Given the description of an element on the screen output the (x, y) to click on. 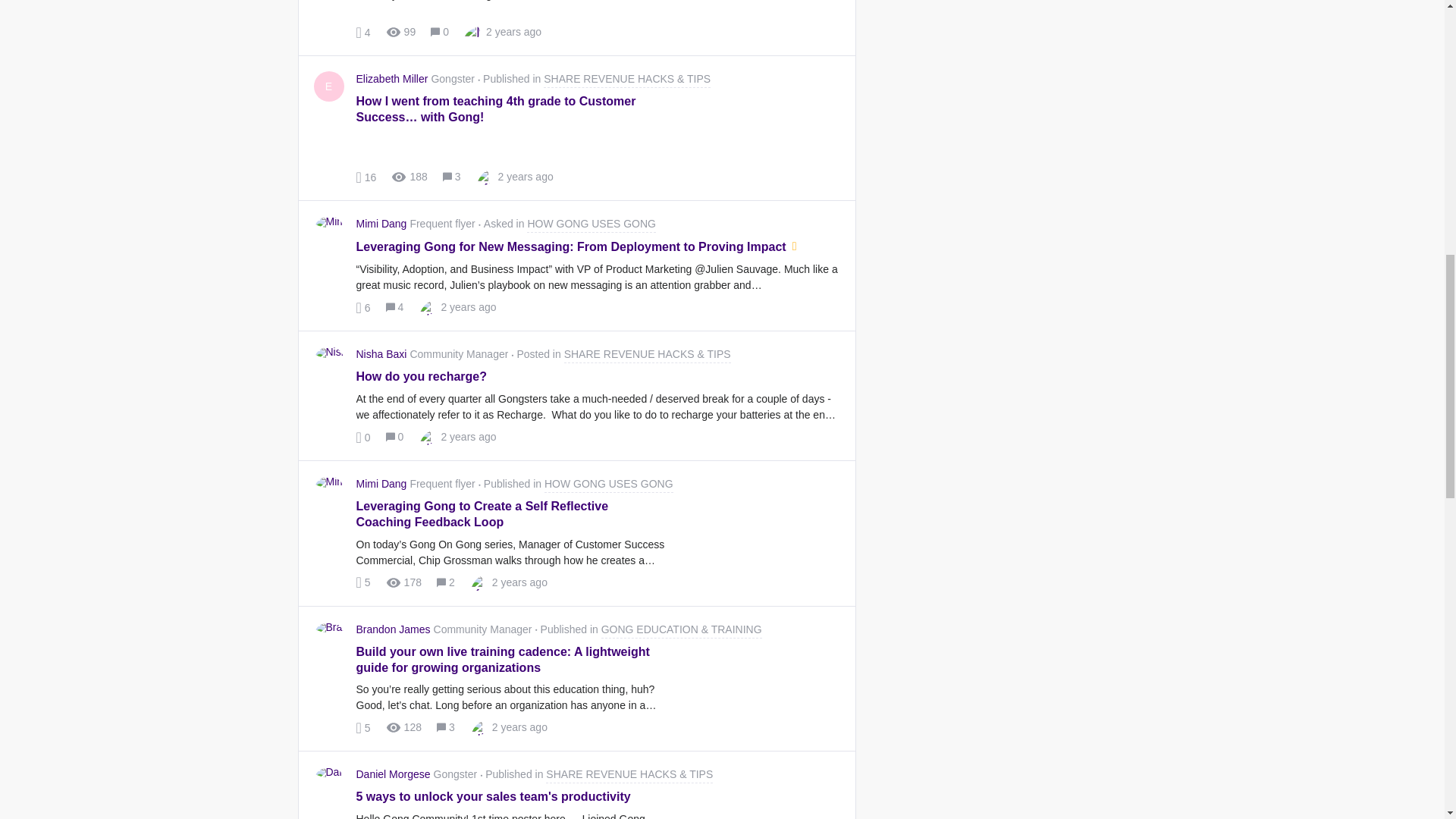
Question (794, 247)
